Given the description of an element on the screen output the (x, y) to click on. 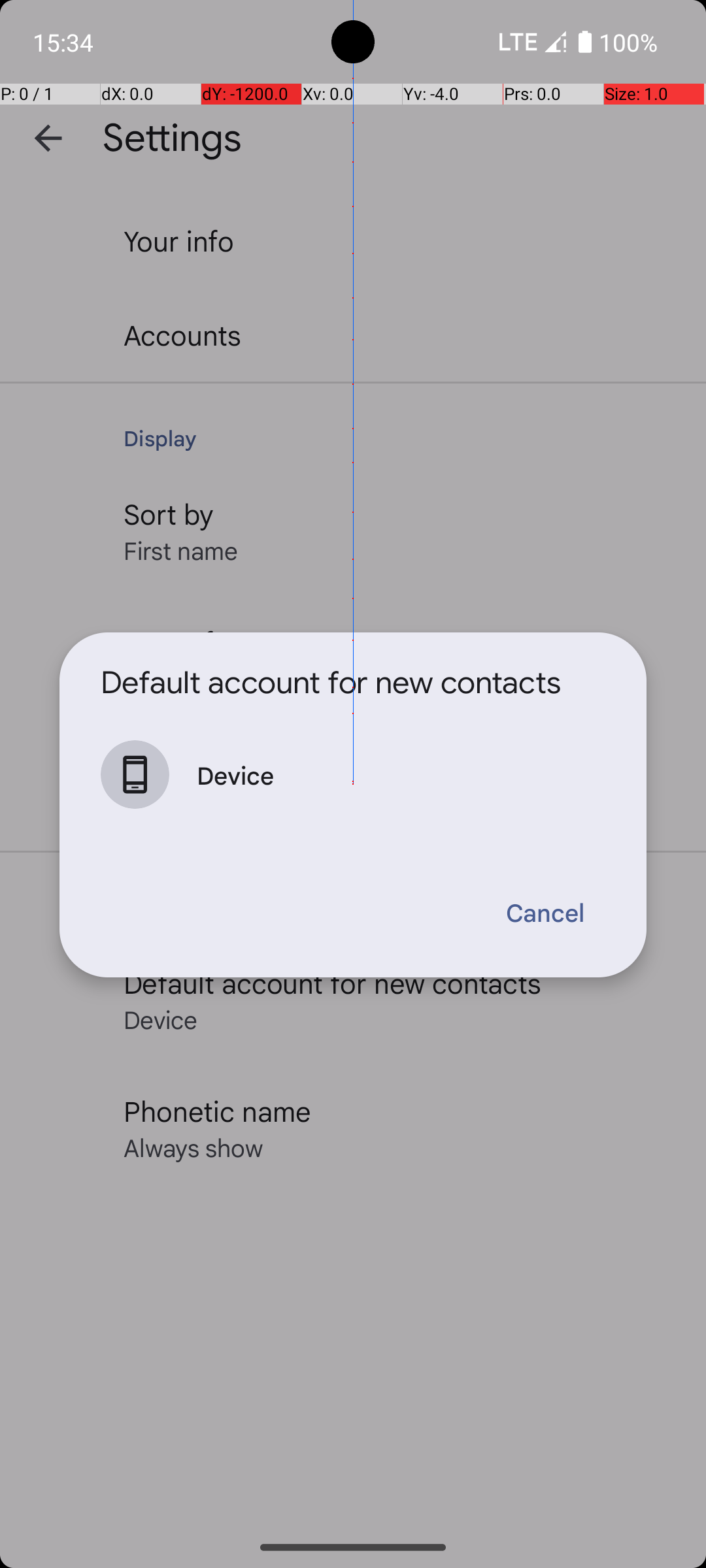
Default account for new contacts Element type: android.widget.TextView (330, 682)
